Given the description of an element on the screen output the (x, y) to click on. 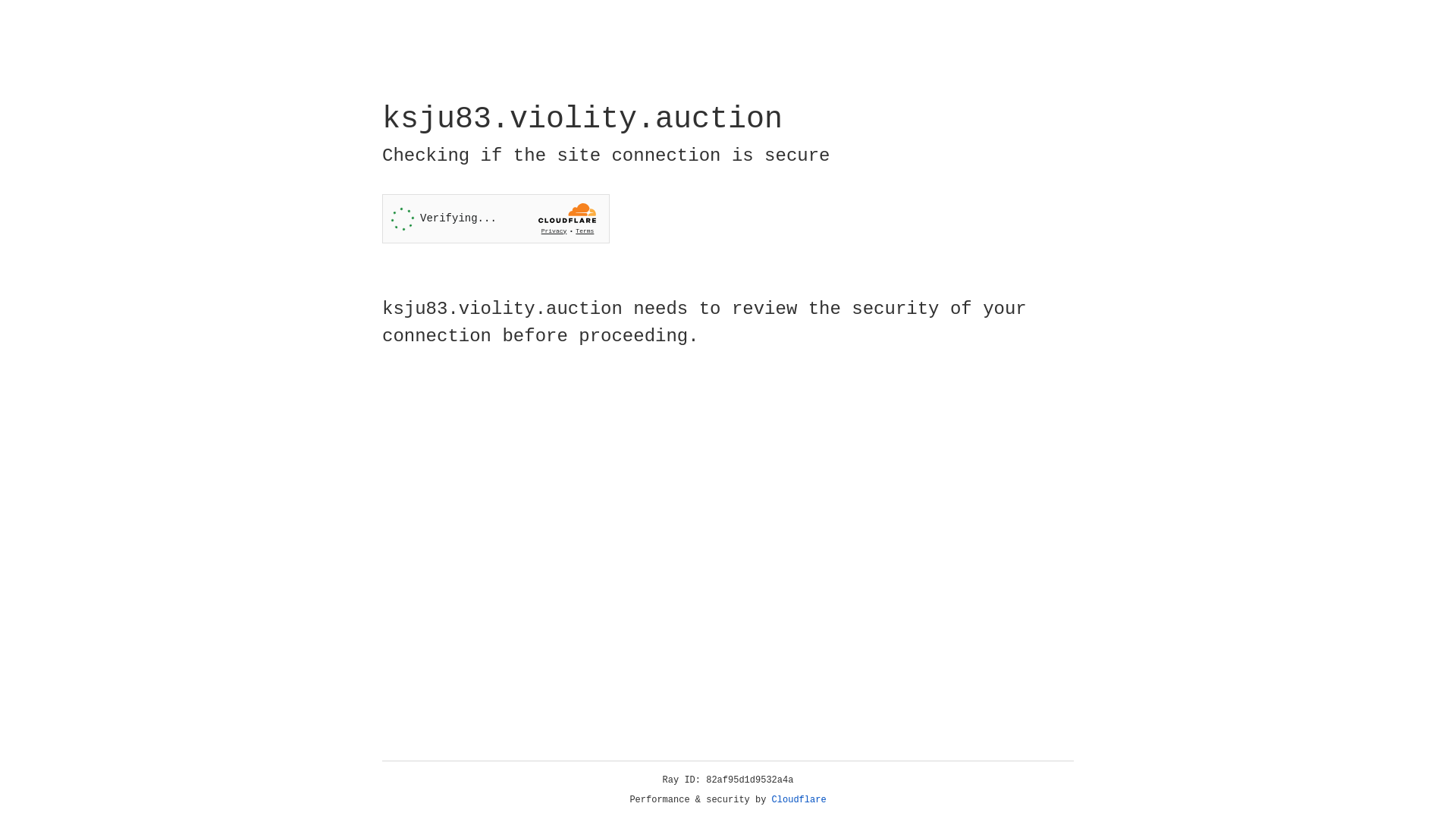
Widget containing a Cloudflare security challenge Element type: hover (495, 218)
Cloudflare Element type: text (798, 799)
